Given the description of an element on the screen output the (x, y) to click on. 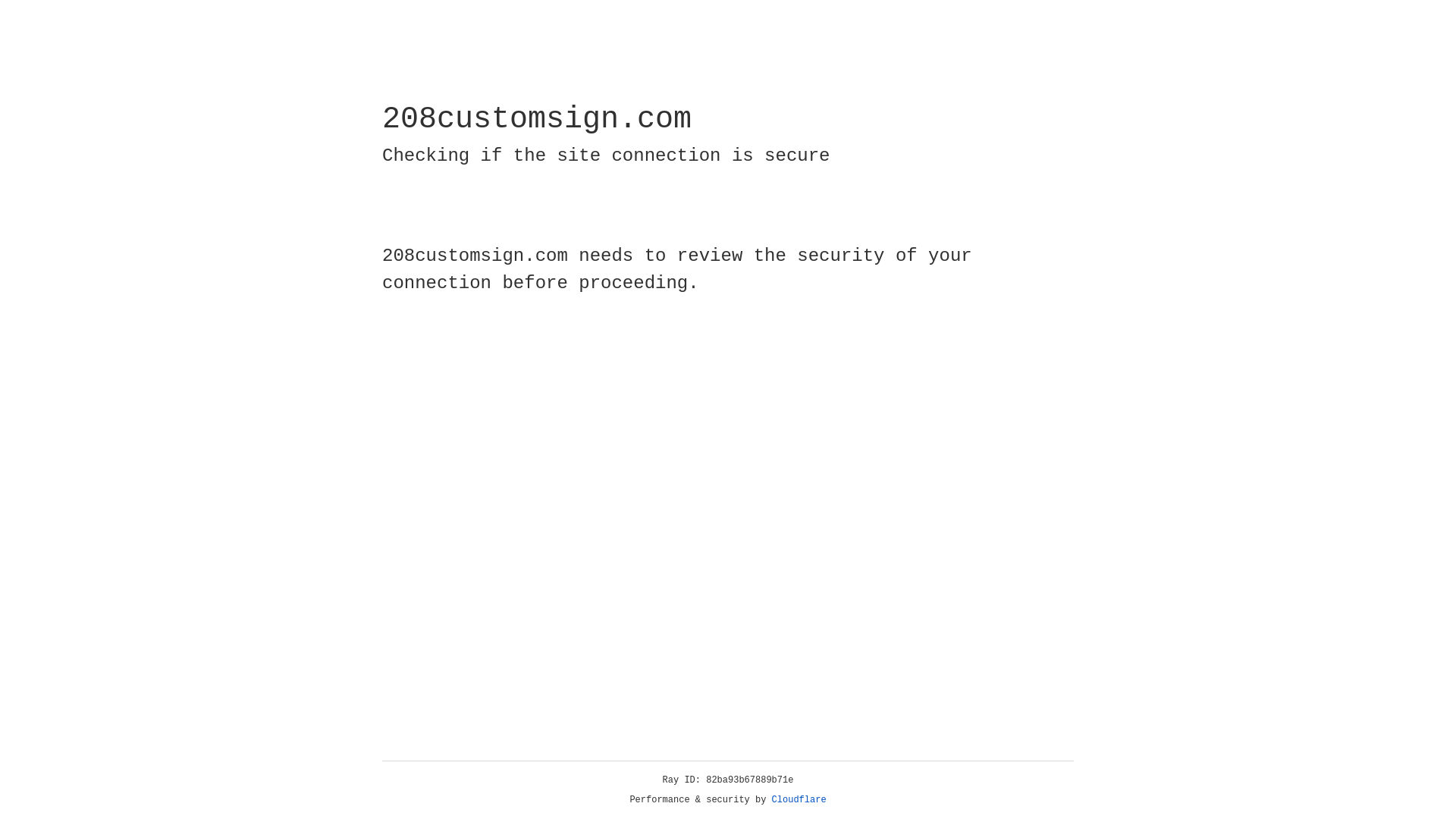
Cloudflare Element type: text (798, 799)
